Given the description of an element on the screen output the (x, y) to click on. 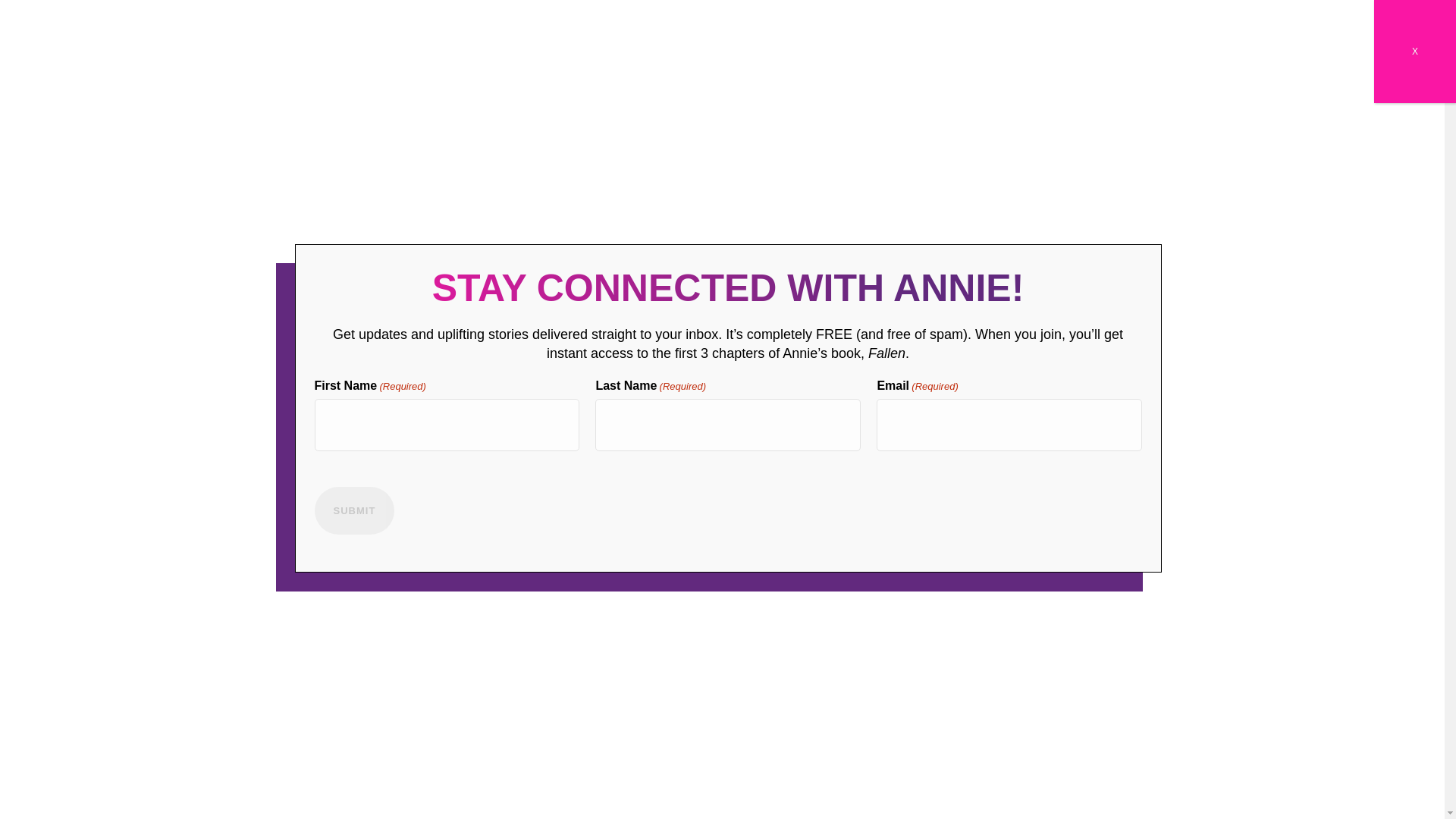
Submit (354, 510)
OUR PROGRAMS (289, 704)
OUR TEAM (778, 704)
ABOUT ANNIE (397, 704)
CHANGED LIVES (502, 704)
OUR PROGRAMS (289, 704)
GET INVOLVED (871, 704)
GET INVOLVED (871, 704)
CONTACT US (1062, 704)
NEED HELP? (969, 704)
Learn More (962, 490)
SUPPORT US (692, 704)
PINK CHAIR (602, 704)
SUPPORT US (692, 704)
ABOUT ANNIE (397, 704)
